Given the description of an element on the screen output the (x, y) to click on. 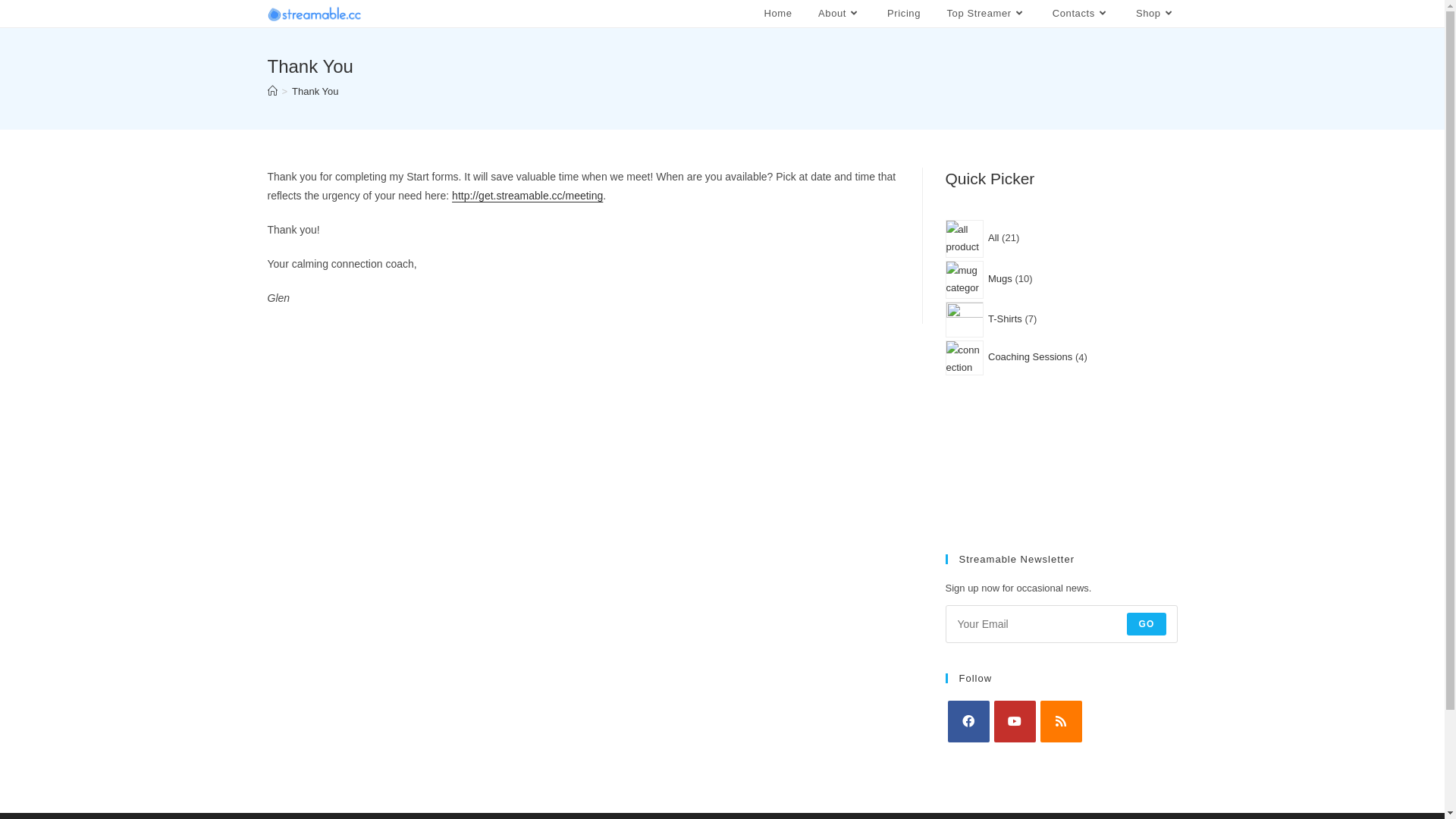
T-Shirts Element type: text (1005, 318)
Contacts Element type: text (1081, 13)
Home Element type: text (777, 13)
http://get.streamable.cc/meeting Element type: text (526, 195)
Top Streamer Element type: text (985, 13)
About Element type: text (839, 13)
Coaching Sessions Element type: text (1031, 356)
Pricing Element type: text (903, 13)
All Element type: text (994, 237)
GO Element type: text (1145, 623)
Mugs Element type: text (1000, 278)
Thank You Element type: text (314, 91)
Shop Element type: text (1156, 13)
